Given the description of an element on the screen output the (x, y) to click on. 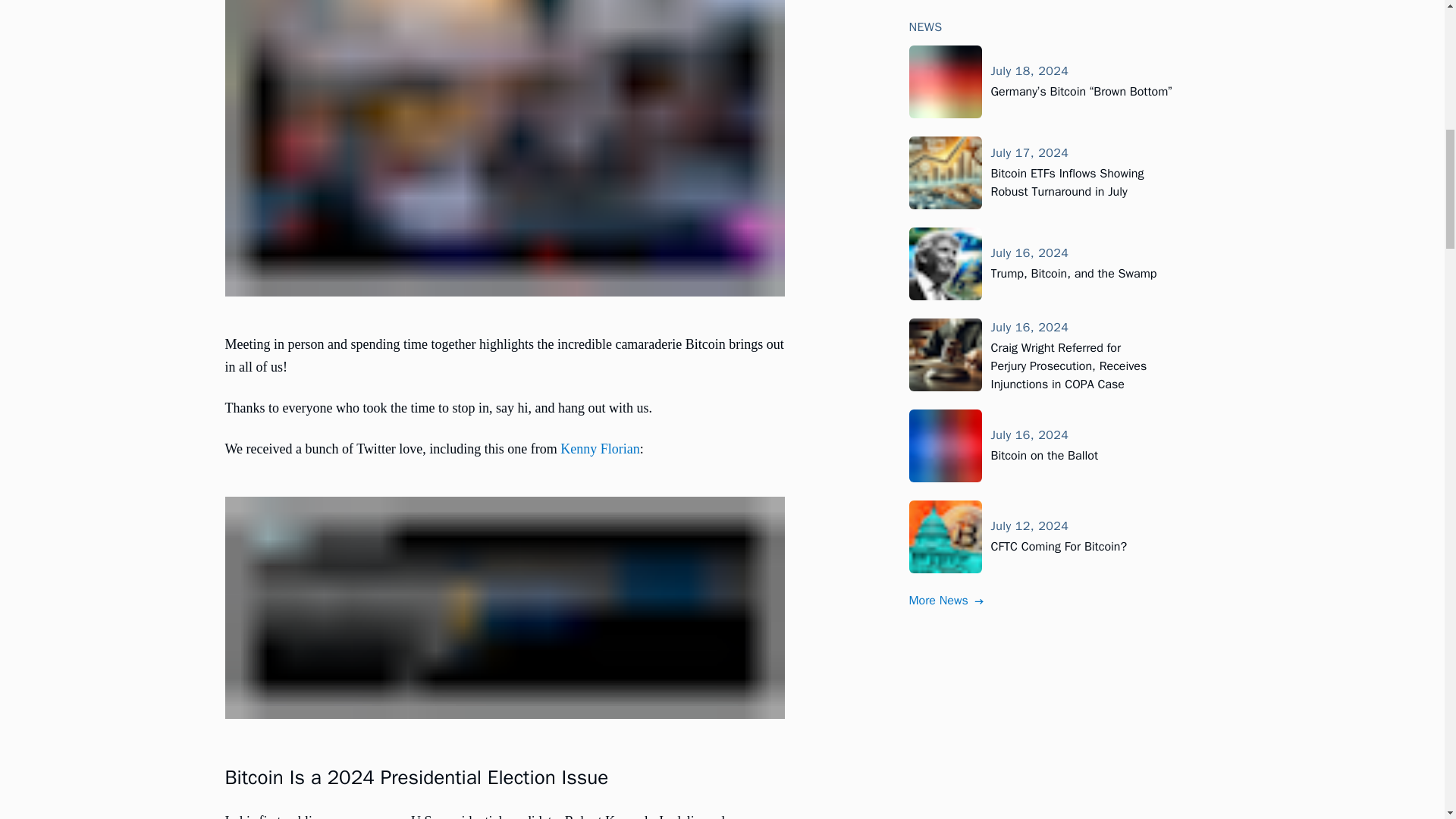
Kenny Florian (599, 448)
Bitcoin on the Ballot (1043, 231)
CFTC Coming For Bitcoin? (1058, 322)
Trump, Bitcoin, and the Swamp (1073, 48)
More News (946, 375)
